Given the description of an element on the screen output the (x, y) to click on. 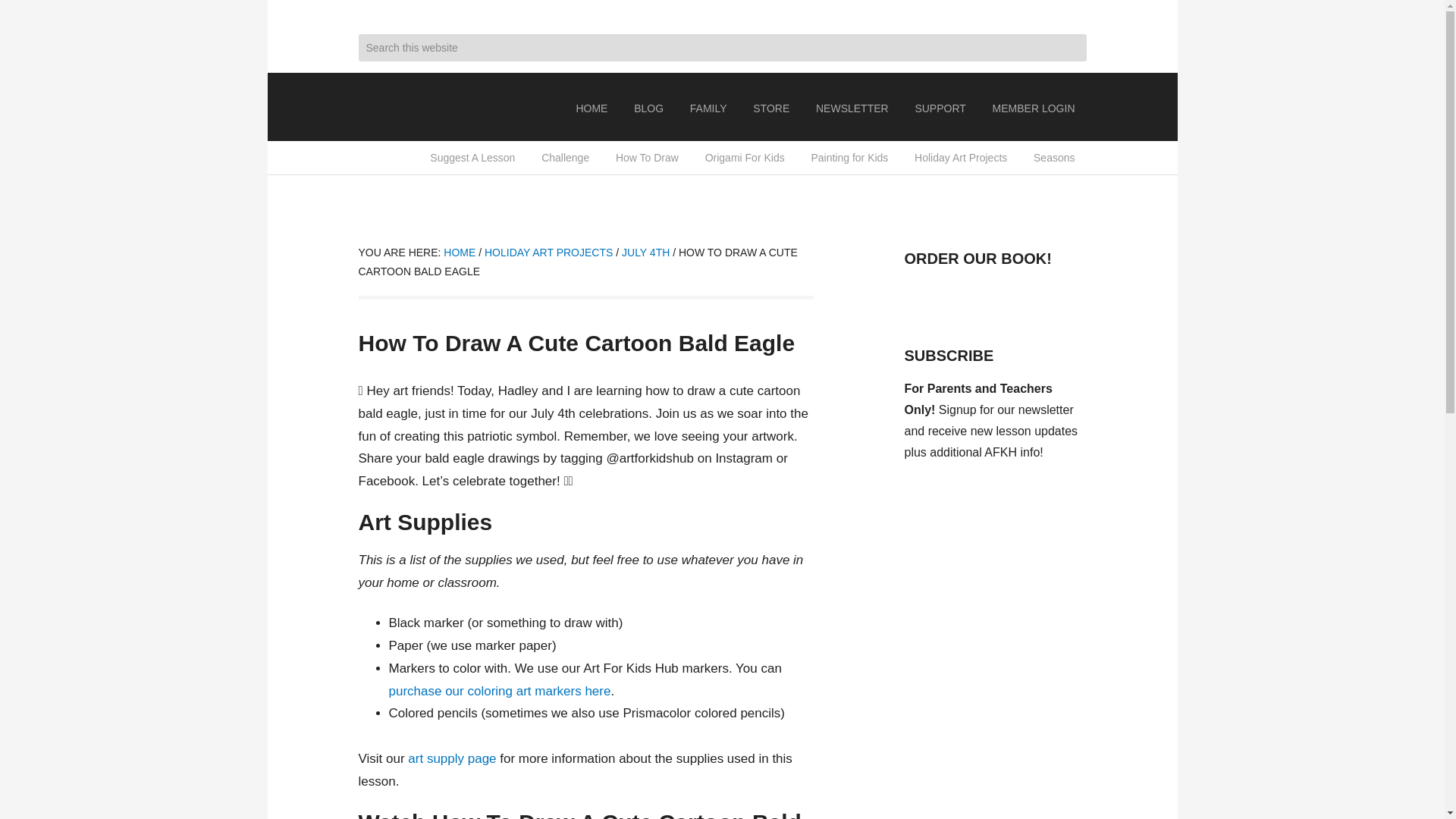
ART FOR KIDS HUB (433, 106)
SUPPORT (939, 108)
BLOG (649, 108)
Suggest A Lesson (472, 157)
NEWSLETTER (852, 108)
MEMBER LOGIN (1033, 108)
STORE (770, 108)
Challenge (564, 157)
HOME (591, 108)
FAMILY (708, 108)
How To Draw (647, 157)
